Given the description of an element on the screen output the (x, y) to click on. 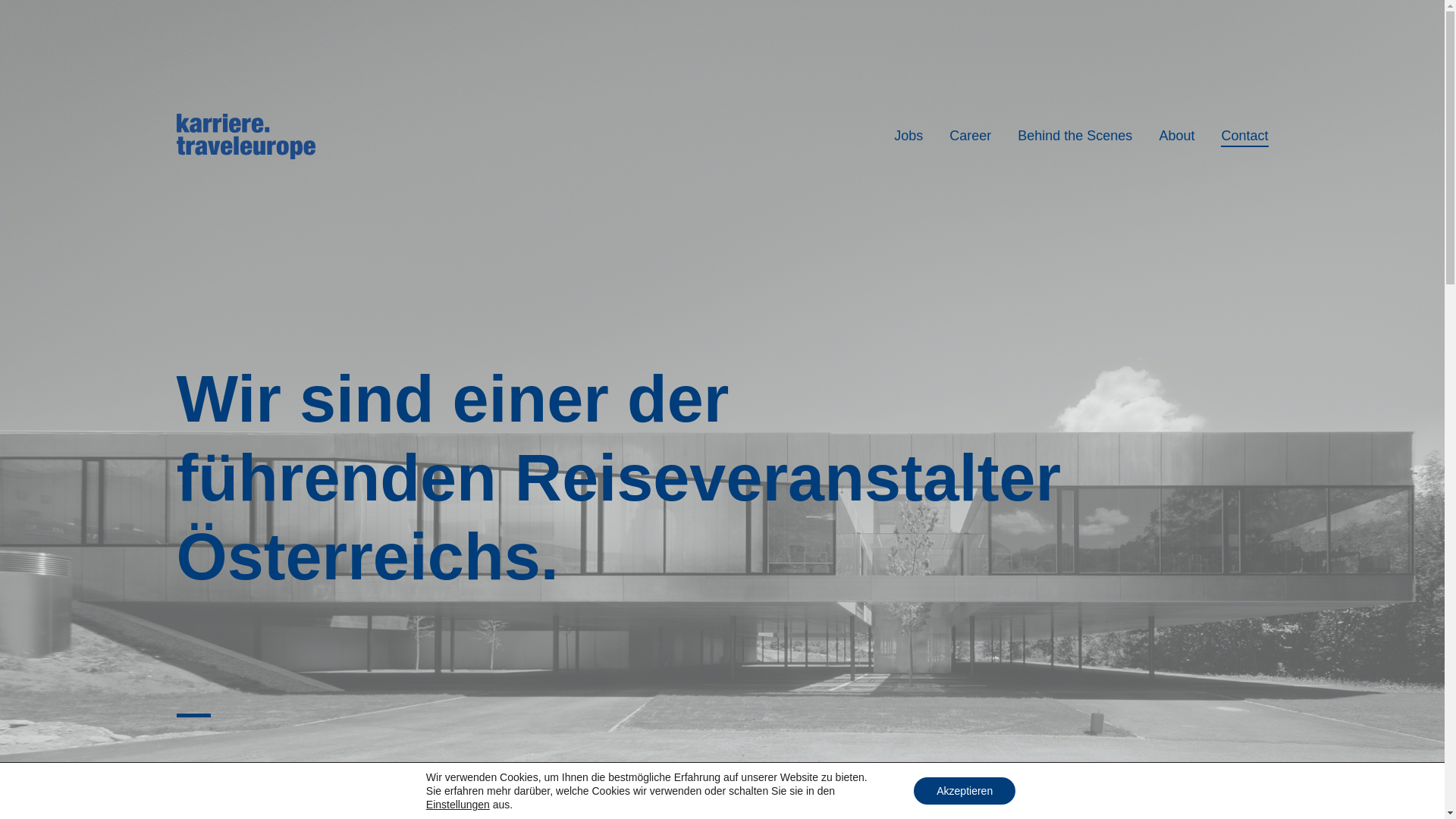
Contact Element type: text (1243, 136)
Jobs Element type: text (908, 136)
Behind the Scenes Element type: text (1074, 136)
Career Element type: text (970, 136)
Einstellungen Element type: text (457, 804)
About Element type: text (1176, 136)
Akzeptieren Element type: text (964, 790)
